Given the description of an element on the screen output the (x, y) to click on. 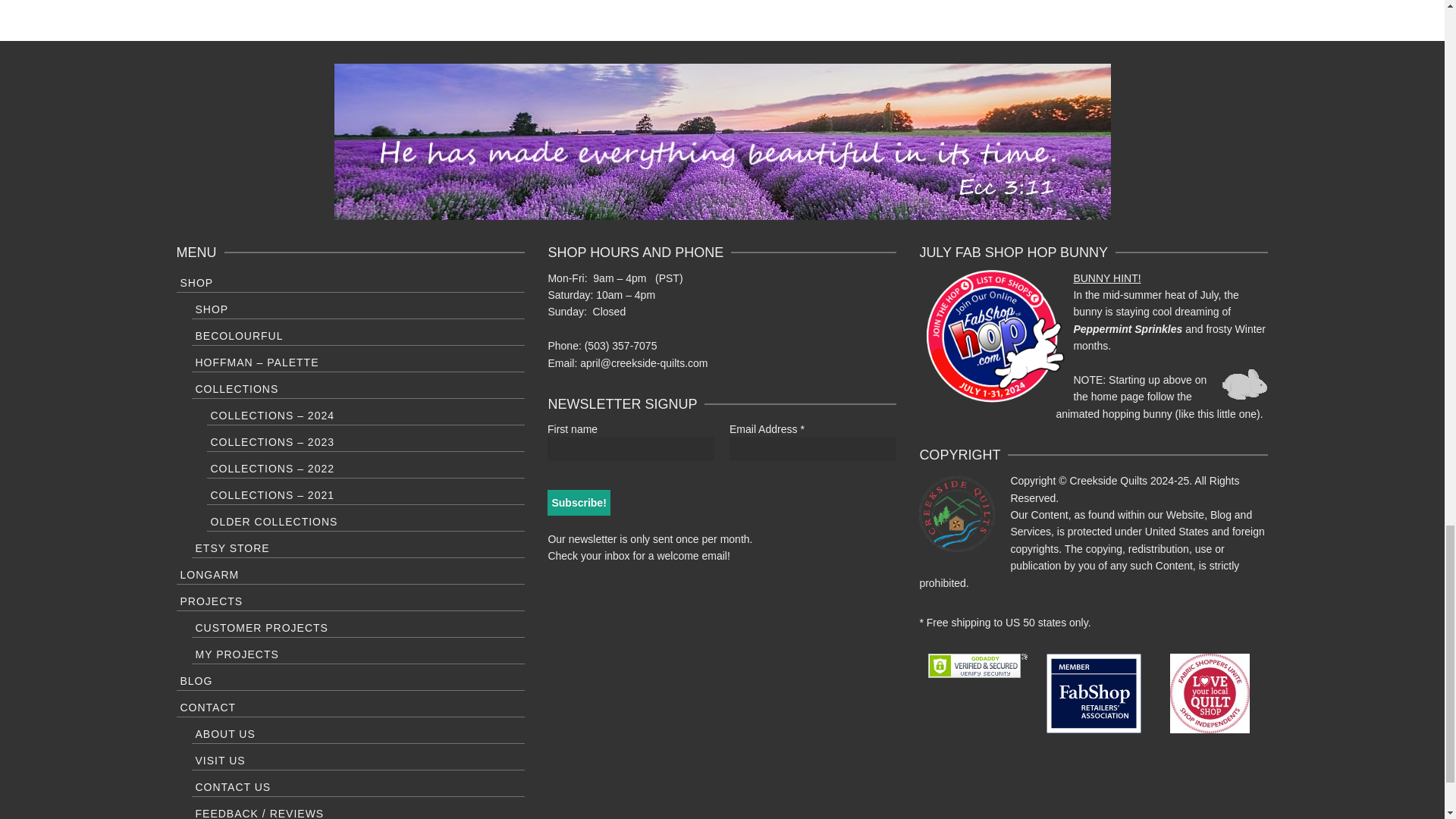
Email Address (812, 447)
Subscribe! (578, 502)
First name (630, 447)
